Given the description of an element on the screen output the (x, y) to click on. 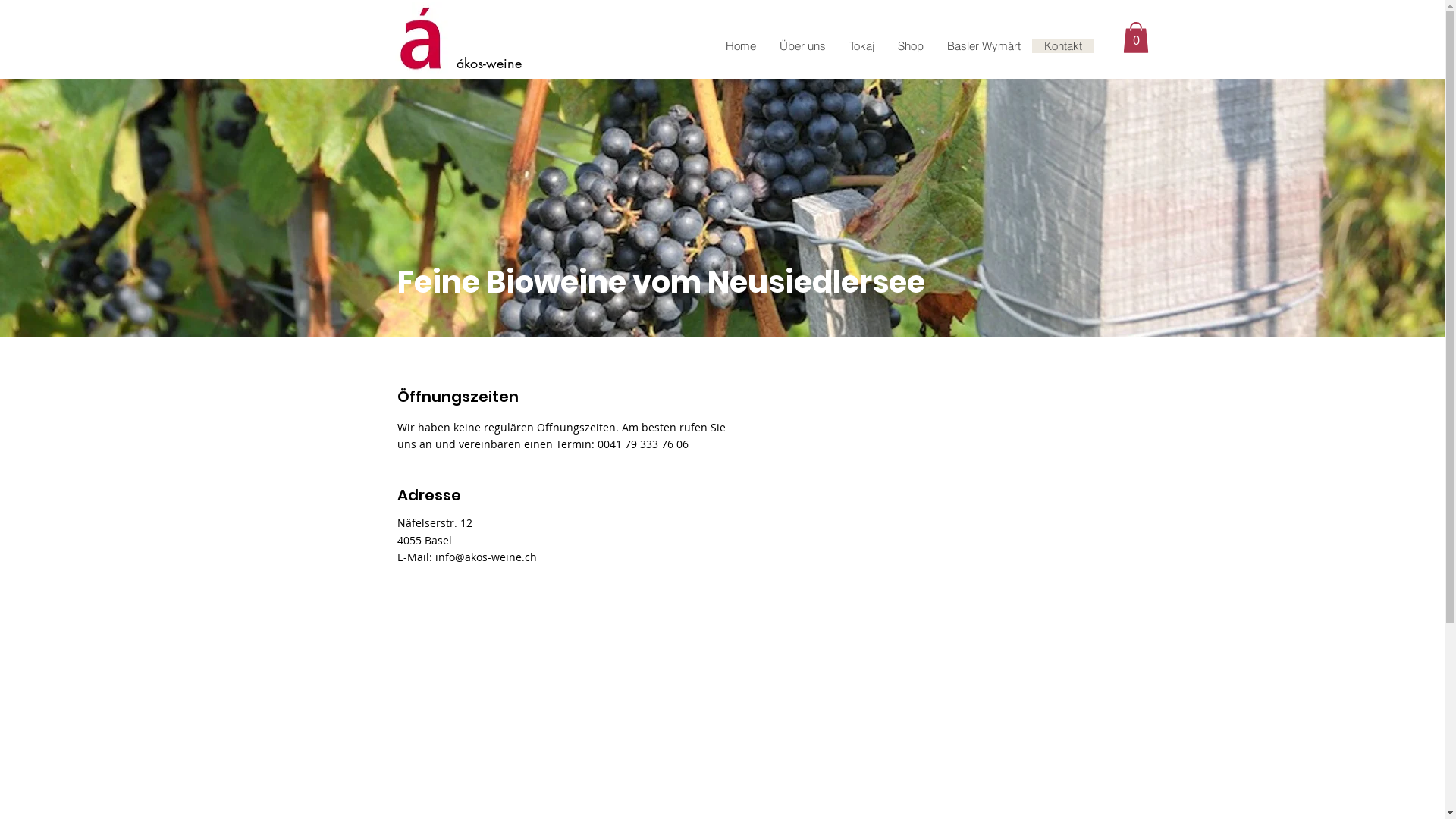
Home Element type: text (739, 46)
0 Element type: text (1135, 37)
Kontakt Element type: text (1061, 46)
Tokaj Element type: text (861, 46)
info@akos-weine.ch Element type: text (485, 556)
Shop Element type: text (910, 46)
